Given the description of an element on the screen output the (x, y) to click on. 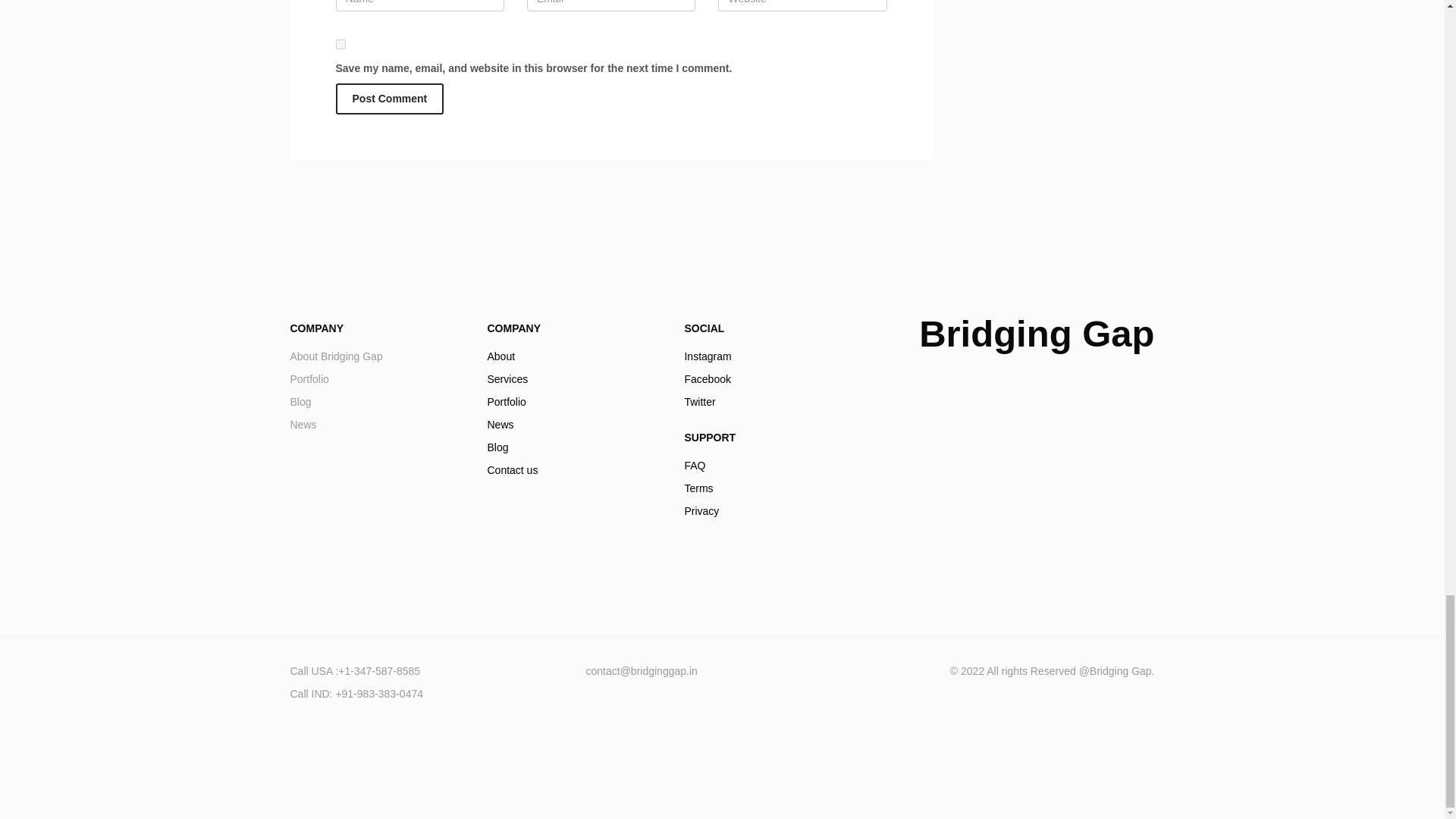
Post Comment (573, 412)
yes (389, 98)
